Given the description of an element on the screen output the (x, y) to click on. 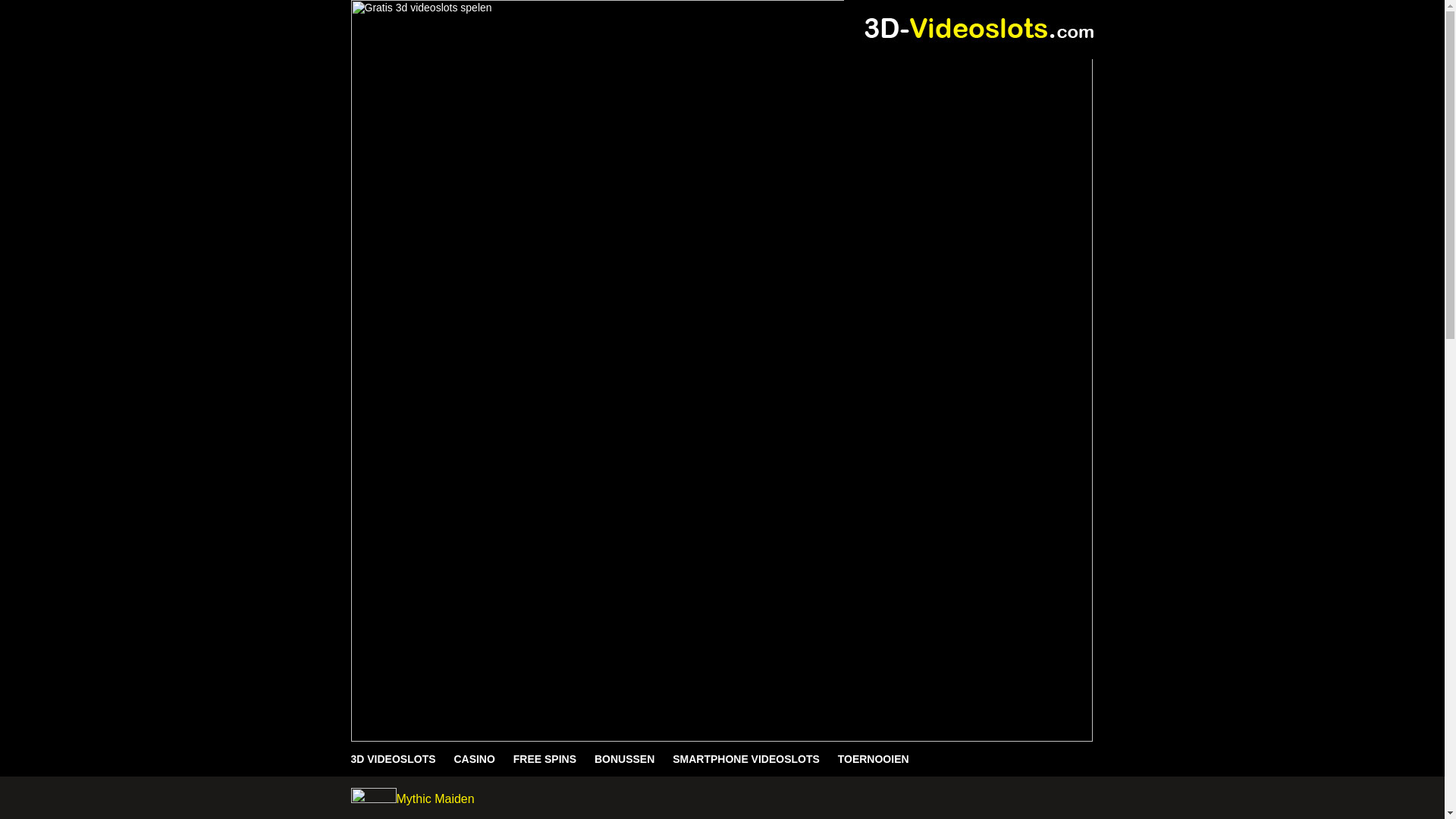
3D VIDEOSLOTS Element type: text (396, 758)
TOERNOOIEN Element type: text (873, 758)
BONUSSEN Element type: text (624, 758)
FREE SPINS Element type: text (544, 758)
SMARTPHONE VIDEOSLOTS Element type: text (746, 758)
Terug naar alle 3d videoslots Element type: hover (372, 795)
CASINO Element type: text (473, 758)
